Given the description of an element on the screen output the (x, y) to click on. 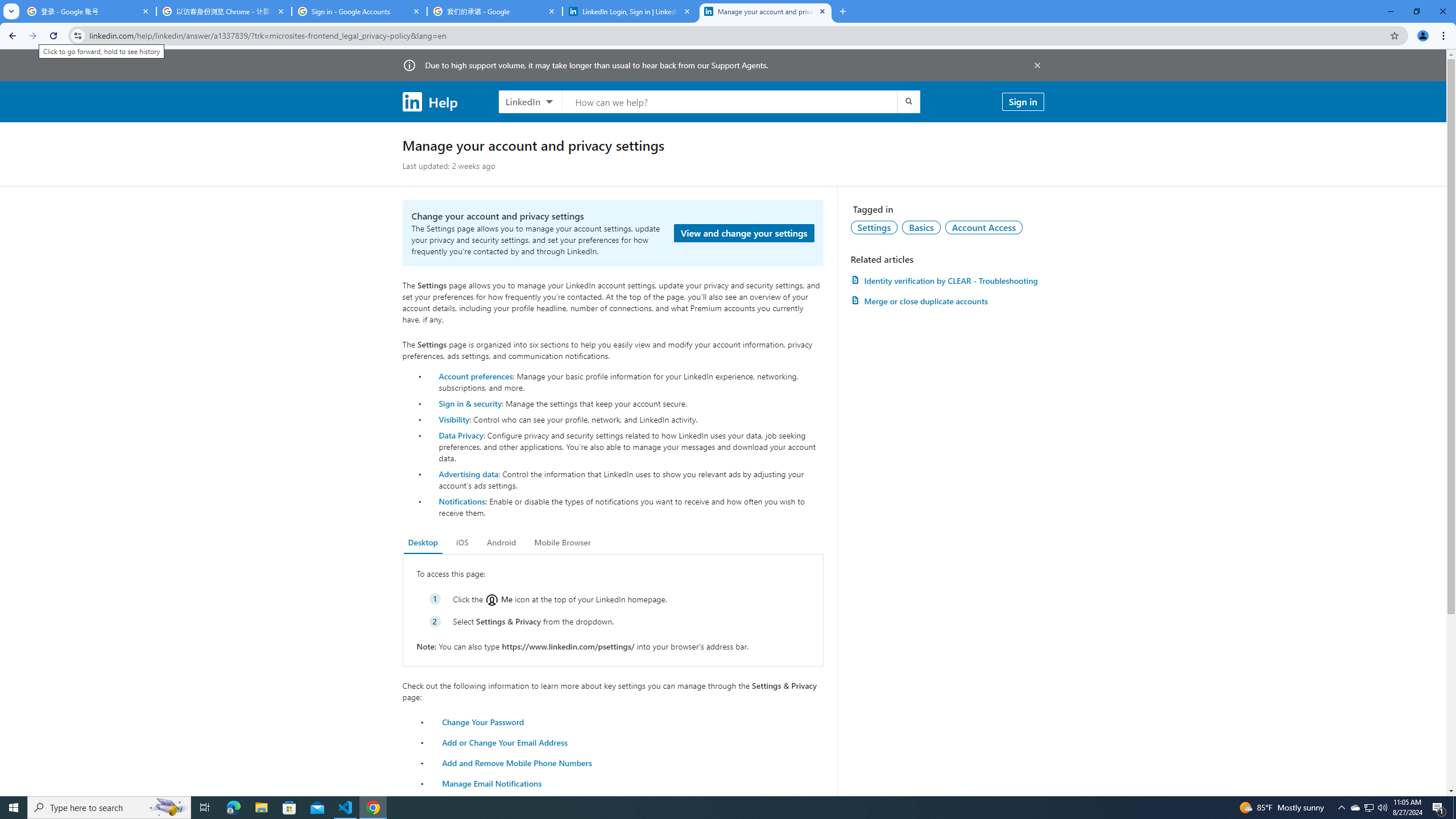
LinkedIn products to search, LinkedIn selected (530, 101)
Identity verification by CLEAR - Troubleshooting (946, 280)
Mobile Browser (562, 542)
AutomationID: topic-link-a149001 (874, 227)
Basics (921, 227)
